Given the description of an element on the screen output the (x, y) to click on. 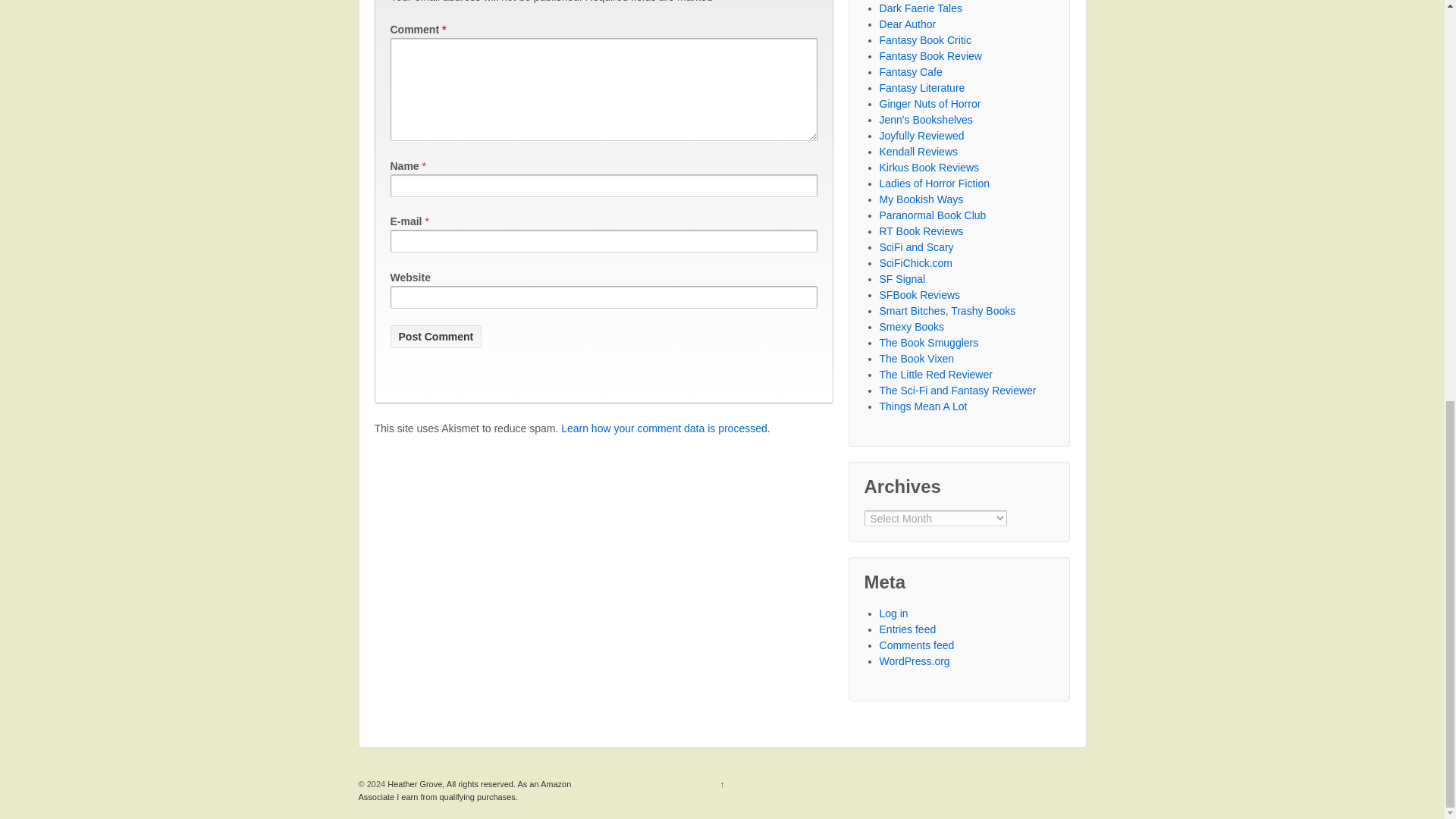
Post Comment (435, 336)
Post Comment (435, 336)
Learn how your comment data is processed (663, 428)
